Given the description of an element on the screen output the (x, y) to click on. 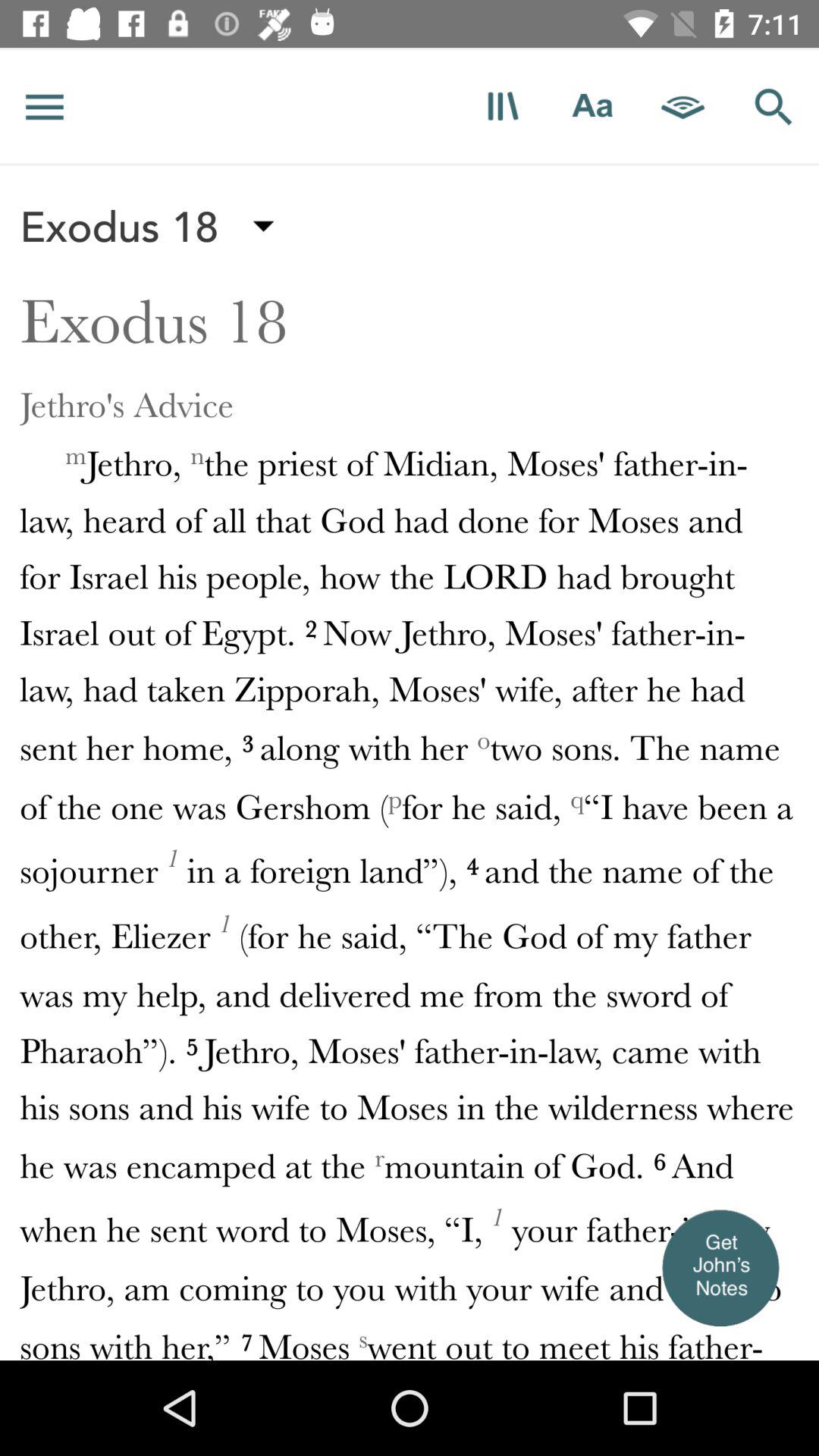
return to bookshelf (502, 106)
